Given the description of an element on the screen output the (x, y) to click on. 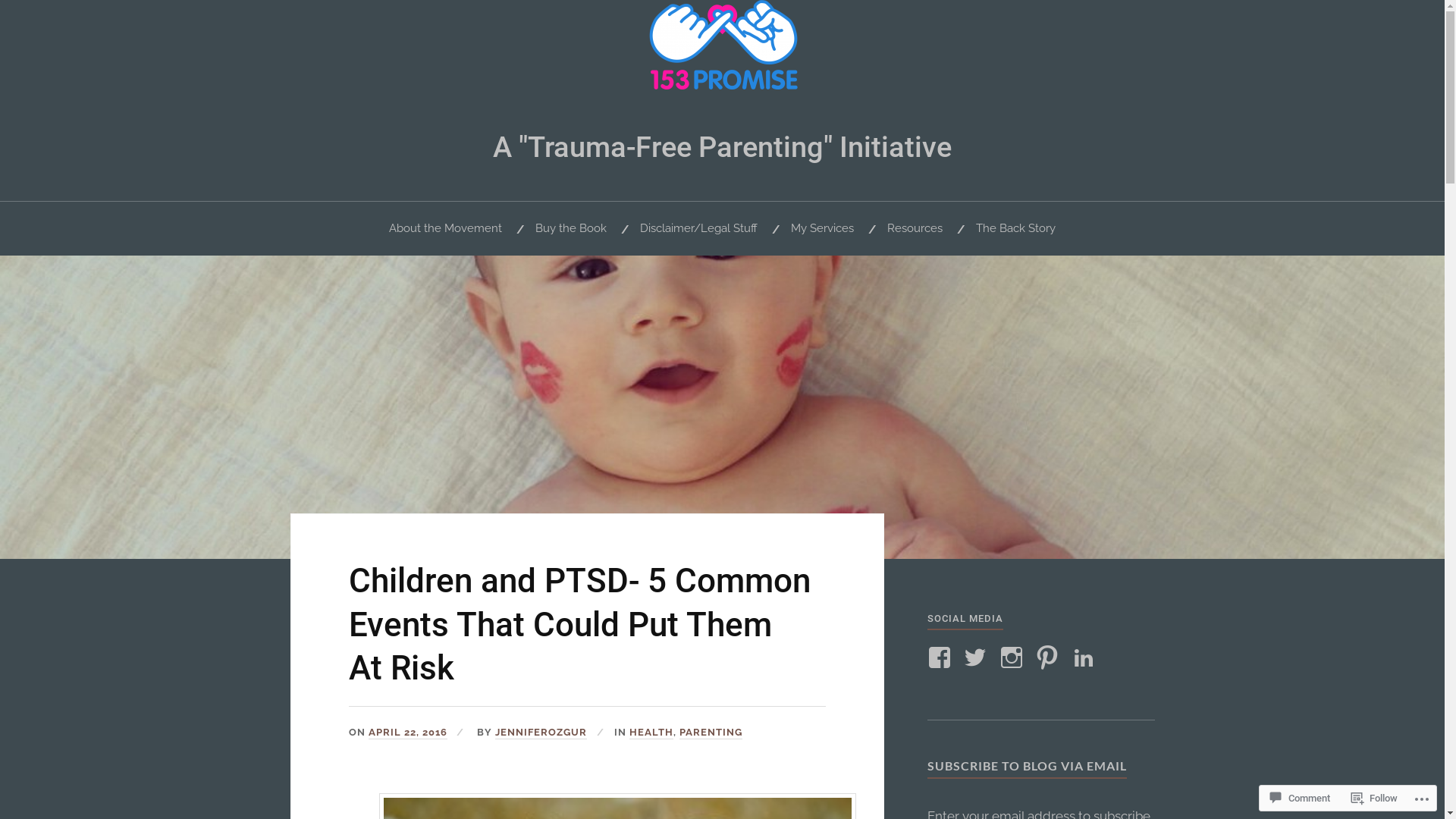
My Services Element type: text (821, 228)
HEALTH Element type: text (651, 732)
Buy the Book Element type: text (570, 228)
Disclaimer/Legal Stuff Element type: text (698, 228)
The Back Story Element type: text (1015, 228)
Follow Element type: text (1374, 797)
APRIL 22, 2016 Element type: text (407, 732)
PARENTING Element type: text (710, 732)
JENNIFEROZGUR Element type: text (540, 732)
A "Trauma-Free Parenting" Initiative Element type: text (721, 146)
Comment Element type: text (1300, 797)
Resources Element type: text (914, 228)
About the Movement Element type: text (445, 228)
